Given the description of an element on the screen output the (x, y) to click on. 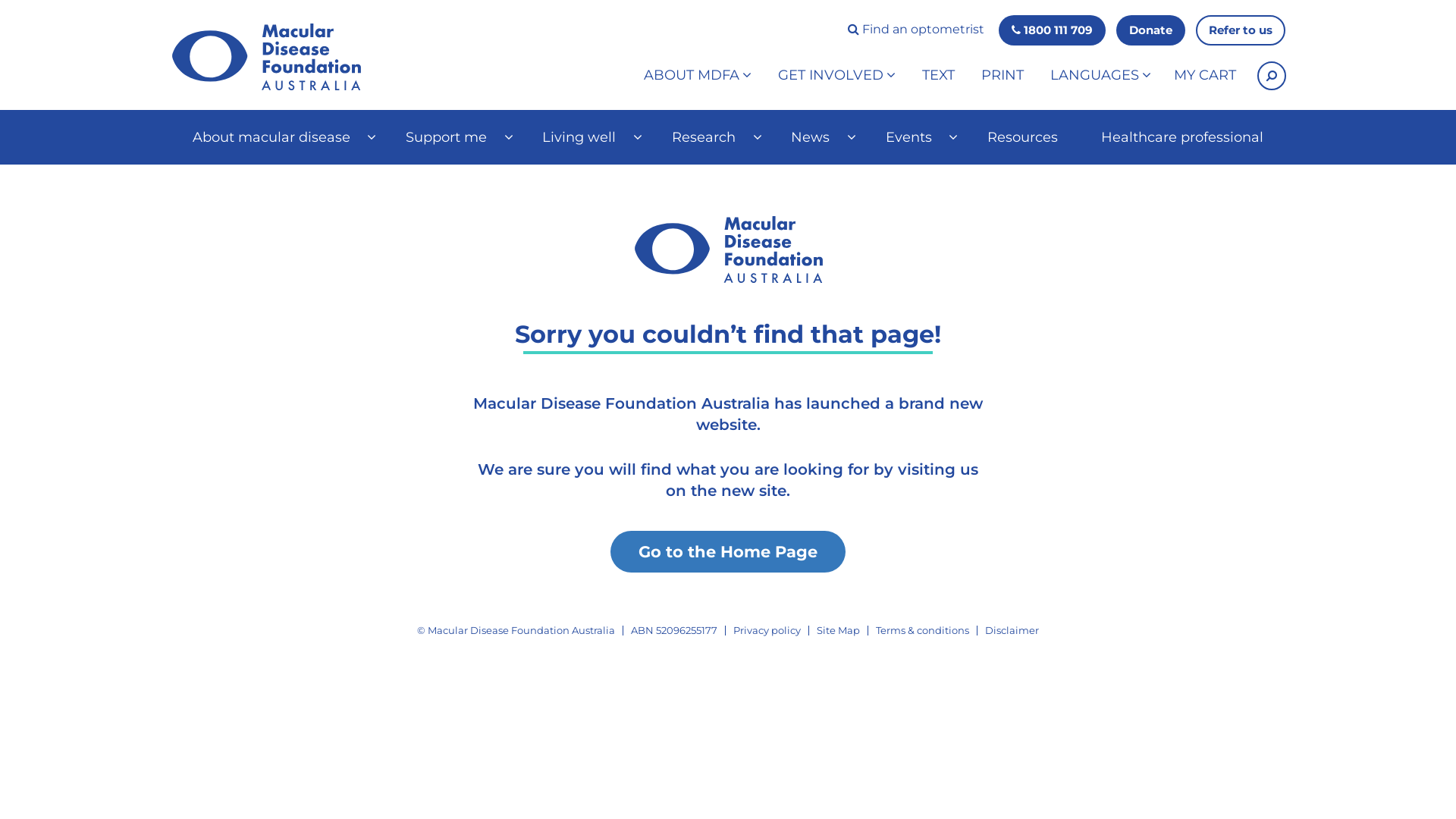
GET INVOLVED Element type: text (836, 75)
1800 111 709 Element type: text (1051, 30)
Site Map Element type: text (837, 630)
Resources Element type: text (1022, 136)
PRINT Element type: text (1002, 75)
Terms & conditions Element type: text (922, 630)
MY CART Element type: text (1204, 75)
Living well Element type: text (584, 136)
Healthcare professional Element type: text (1182, 136)
TEXT Element type: text (938, 75)
Research Element type: text (708, 136)
Refer to us Element type: text (1240, 30)
Events Element type: text (914, 136)
Disclaimer Element type: text (1011, 630)
Find an optometrist Element type: text (916, 29)
Privacy policy Element type: text (766, 630)
About macular disease Element type: text (276, 136)
ABOUT MDFA Element type: text (697, 75)
News Element type: text (815, 136)
Support me Element type: text (451, 136)
LANGUAGES Element type: text (1100, 75)
Donate Element type: text (1150, 30)
Go to the Home Page Element type: text (727, 551)
